Given the description of an element on the screen output the (x, y) to click on. 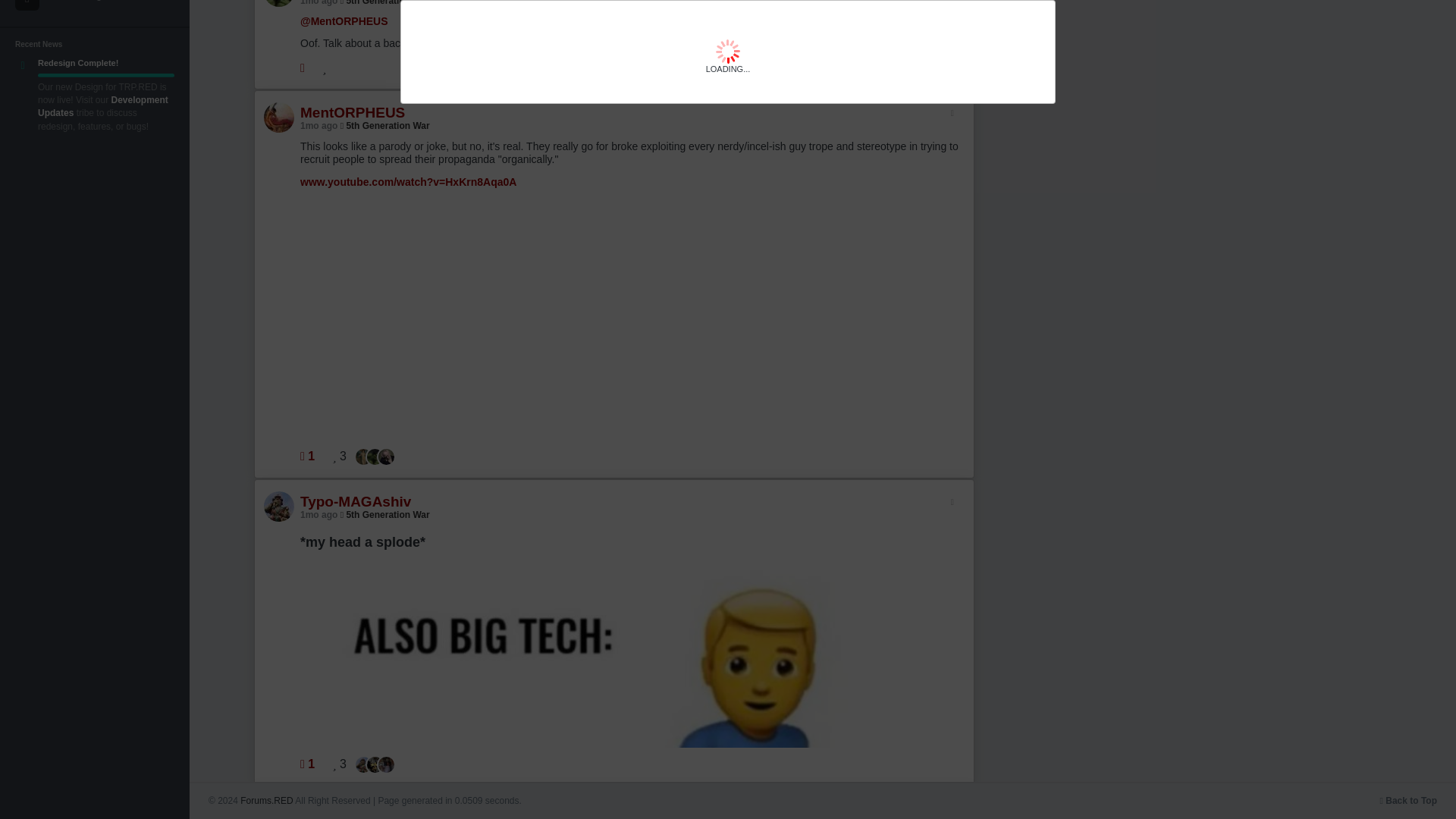
All User Blogs (94, 7)
